Given the description of an element on the screen output the (x, y) to click on. 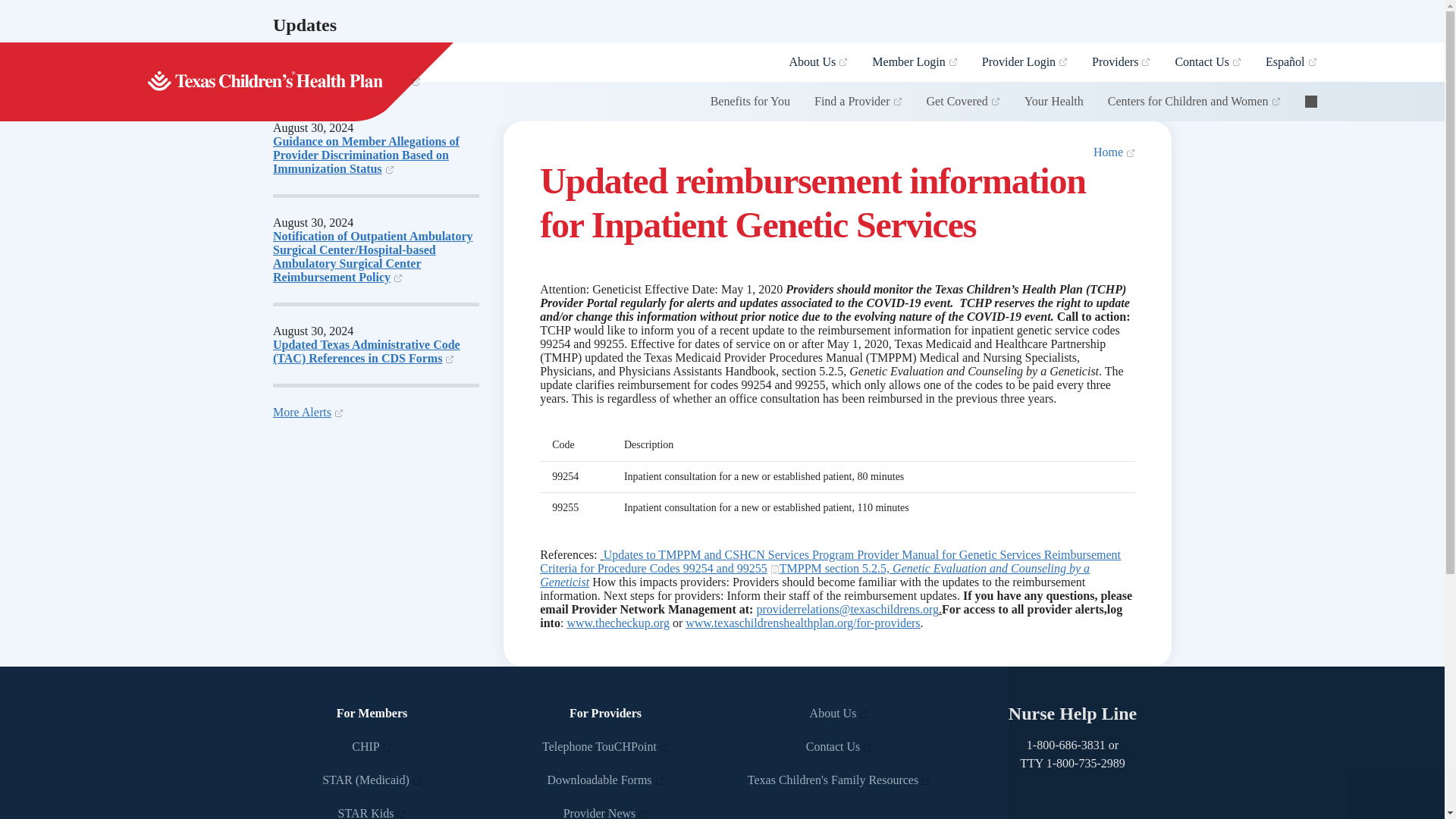
Member Login (914, 61)
Your Health (1053, 101)
Login to MyChart member portal (914, 61)
Contact Us (839, 746)
Search (1309, 101)
About Texas Children's Health Plan (839, 712)
Telephone TouCHPoint (604, 746)
Contact Us (1207, 61)
